Given the description of an element on the screen output the (x, y) to click on. 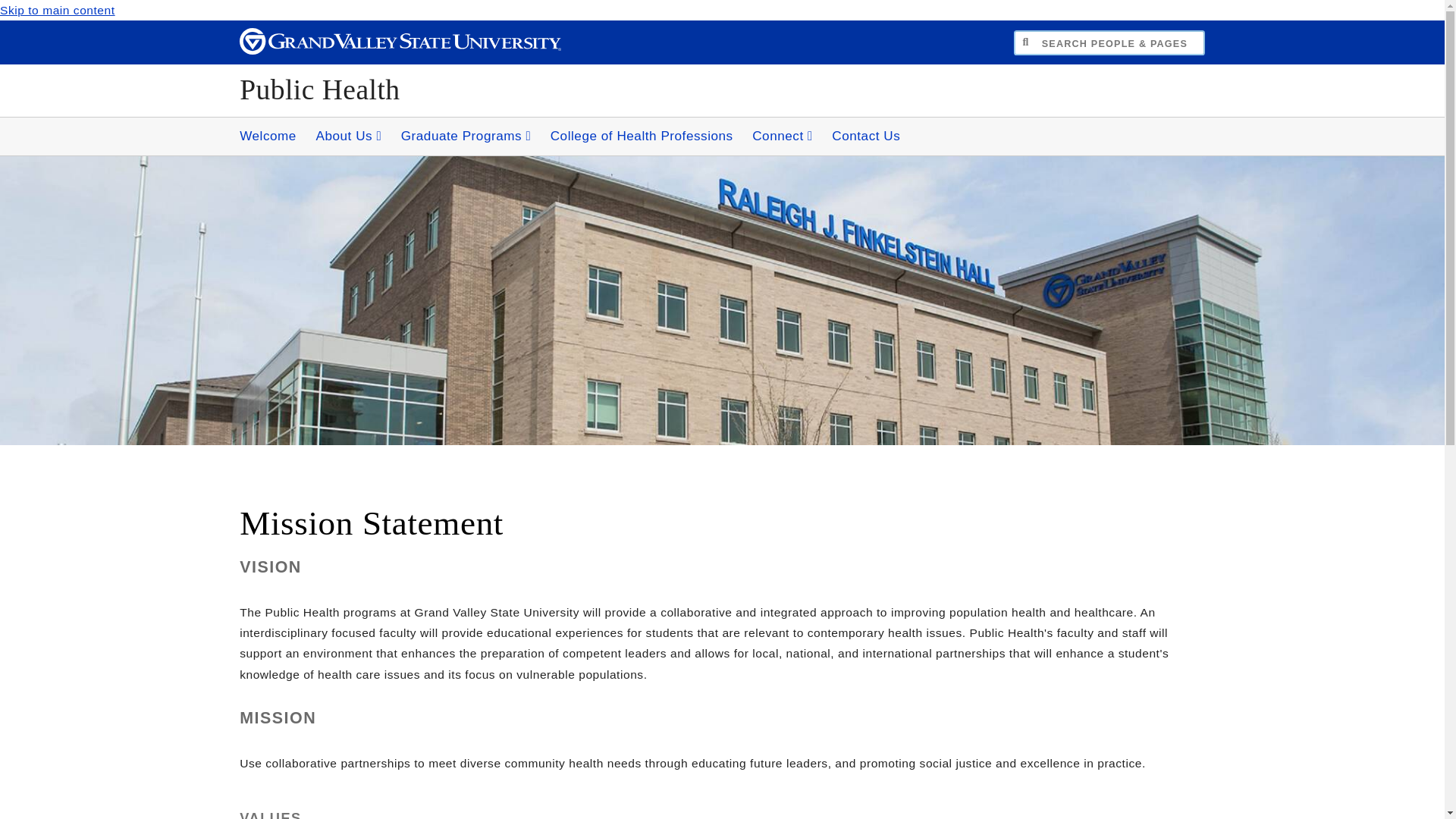
Connect (782, 136)
Graduate Programs (465, 136)
Public Health (319, 89)
College of Health Professions (642, 136)
Welcome (267, 136)
Contact Us (865, 136)
Skip to main content (57, 10)
About Us (347, 136)
